Given the description of an element on the screen output the (x, y) to click on. 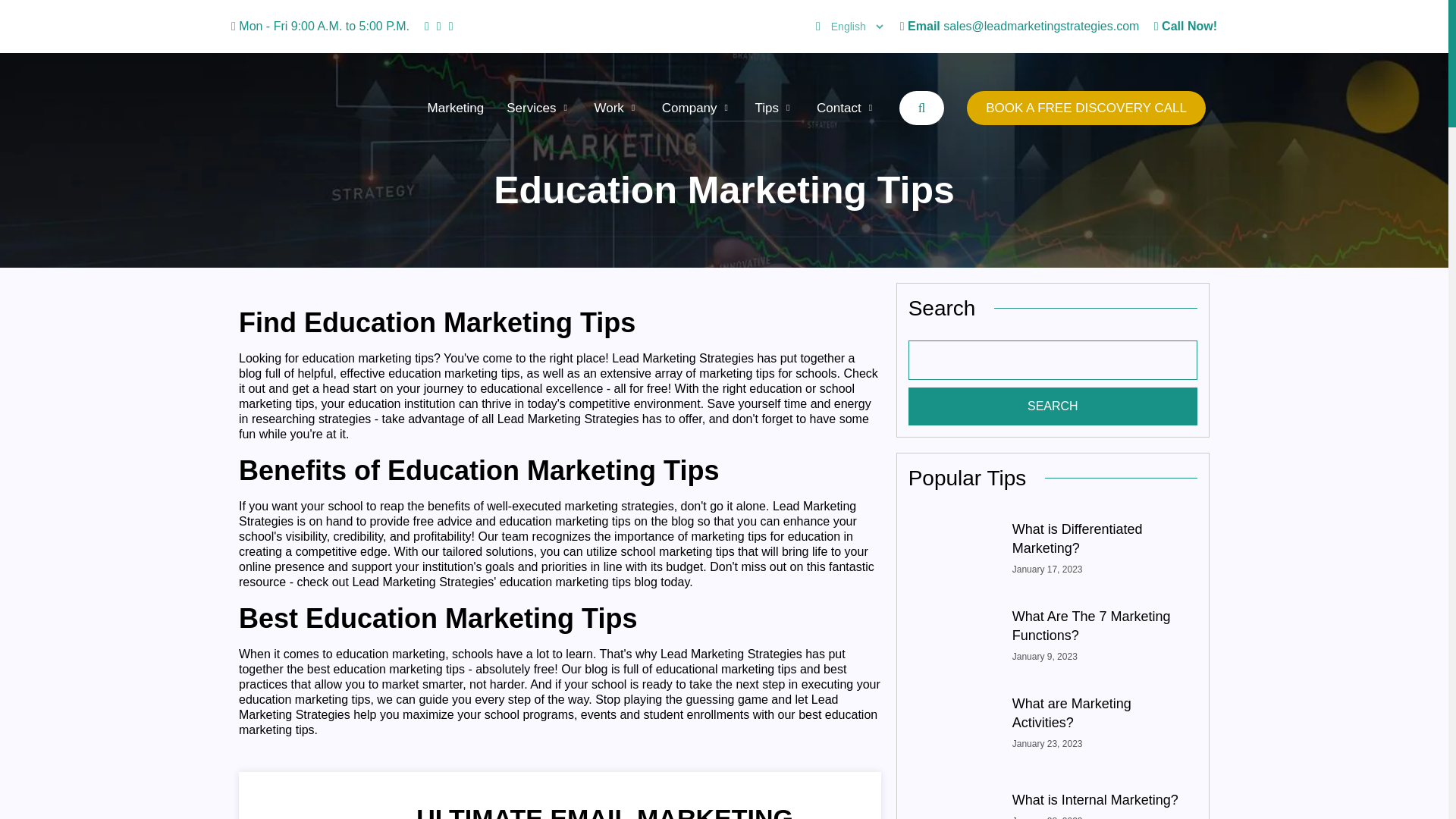
Call Now! (1185, 25)
Marketing (456, 108)
Services (538, 108)
